Given the description of an element on the screen output the (x, y) to click on. 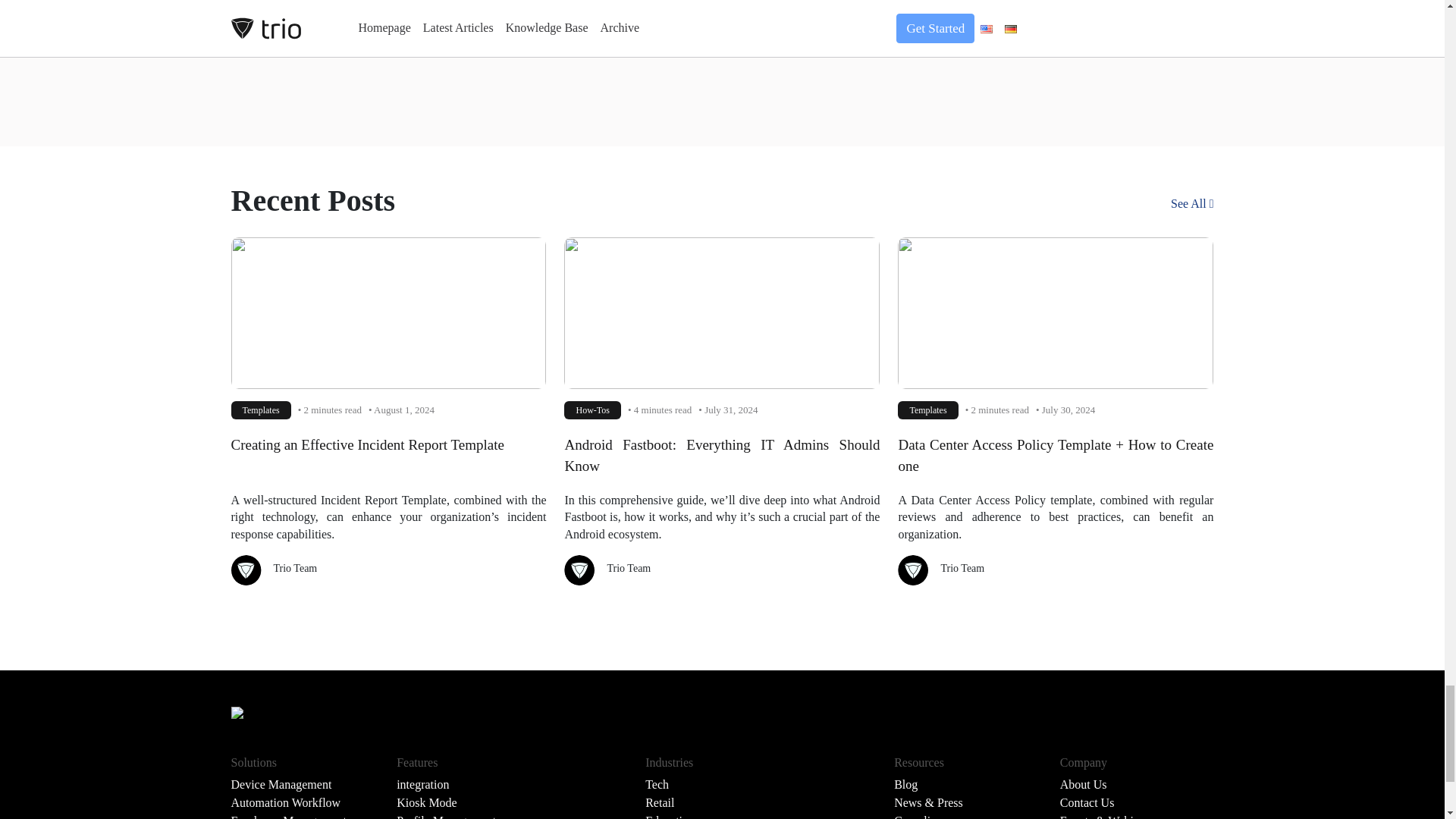
See All (1192, 203)
Subscribe (718, 20)
